Given the description of an element on the screen output the (x, y) to click on. 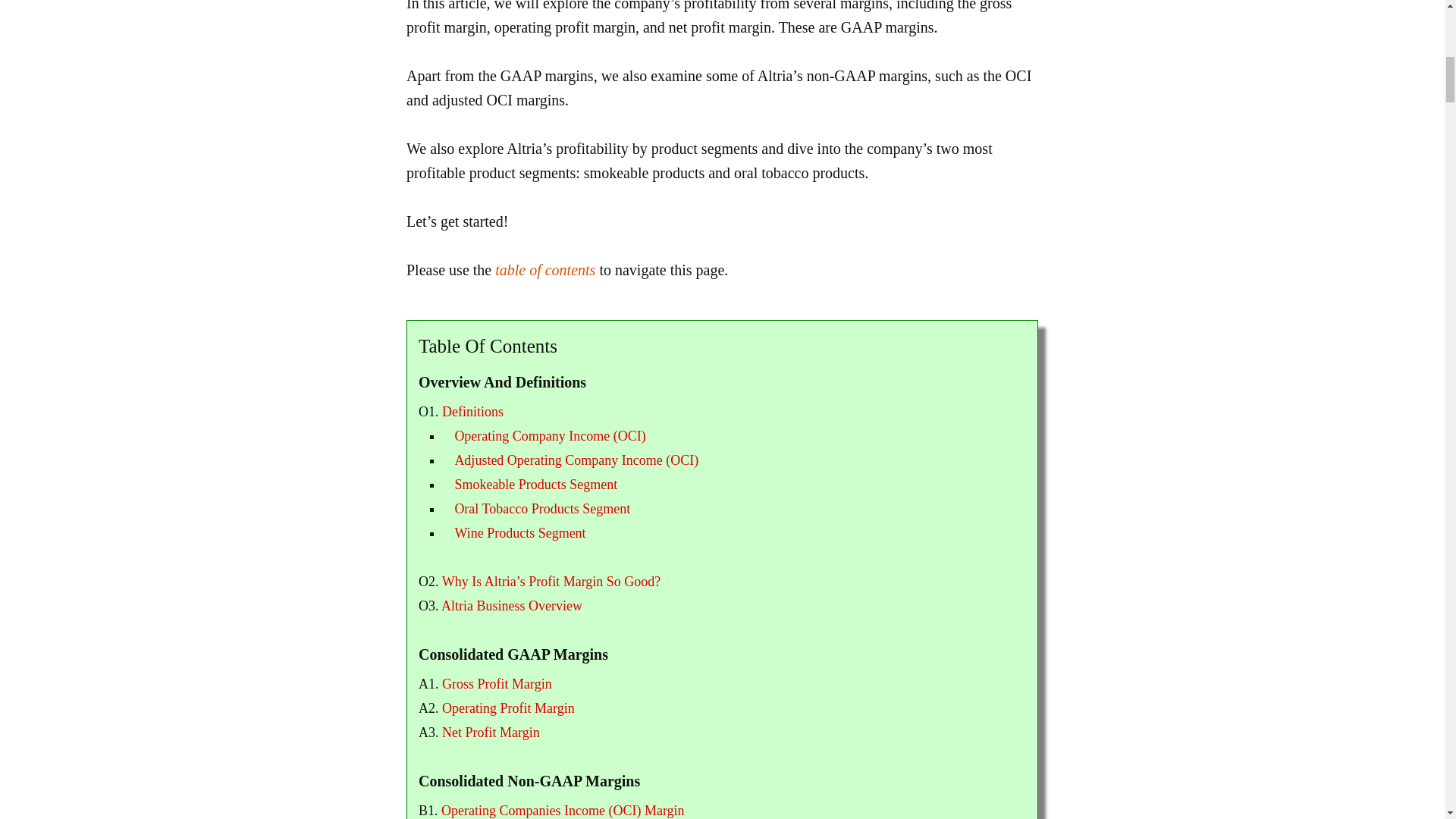
Operating Profit Margin (508, 708)
Net Profit Margin (491, 732)
Gross Profit Margin (496, 683)
Wine Products Segment (519, 532)
Smokeable Products Segment (535, 484)
Definitions (472, 411)
Altria Business Overview (511, 605)
Oral Tobacco Products Segment (542, 508)
